Given the description of an element on the screen output the (x, y) to click on. 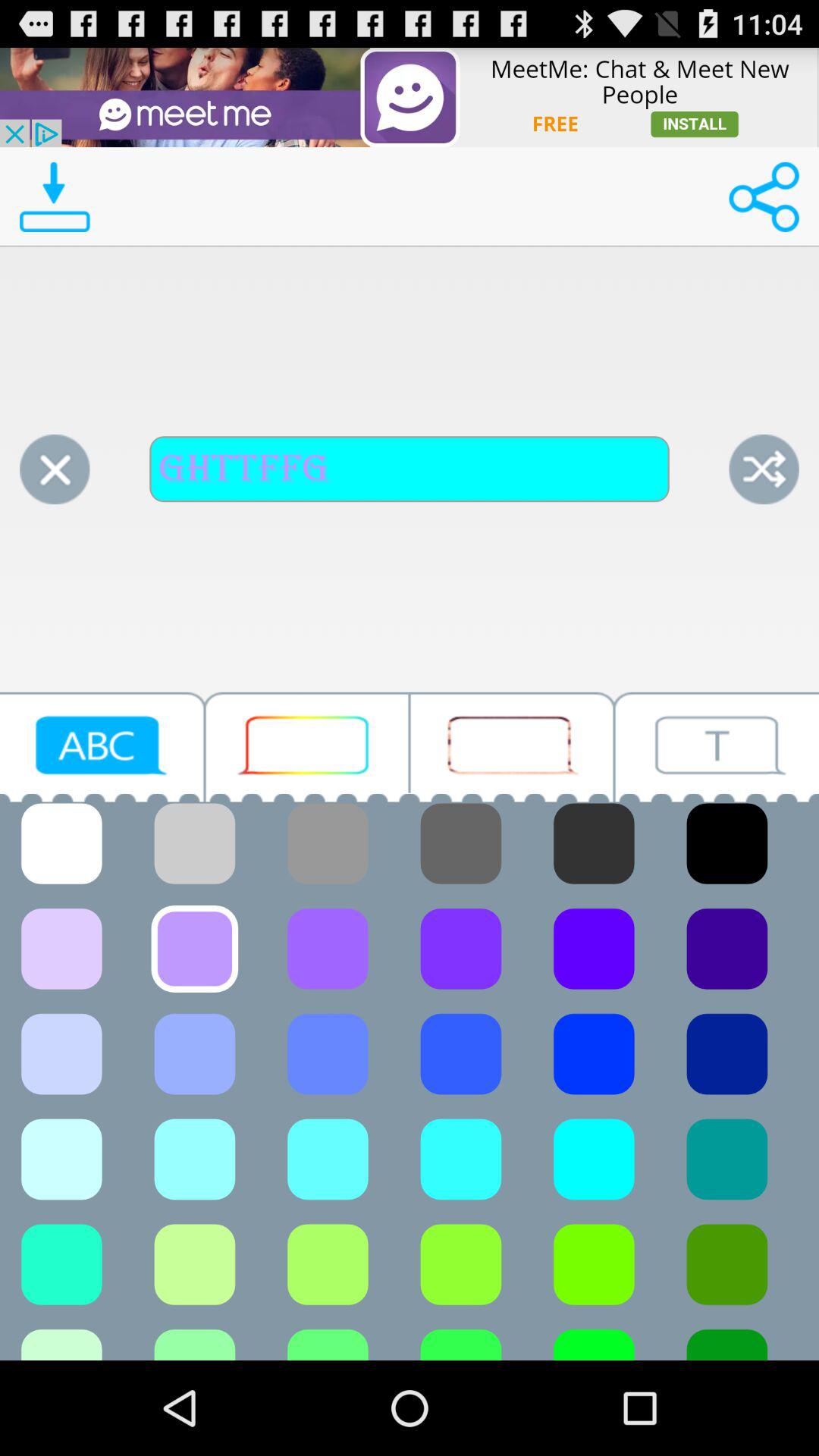
close the option (54, 469)
